Given the description of an element on the screen output the (x, y) to click on. 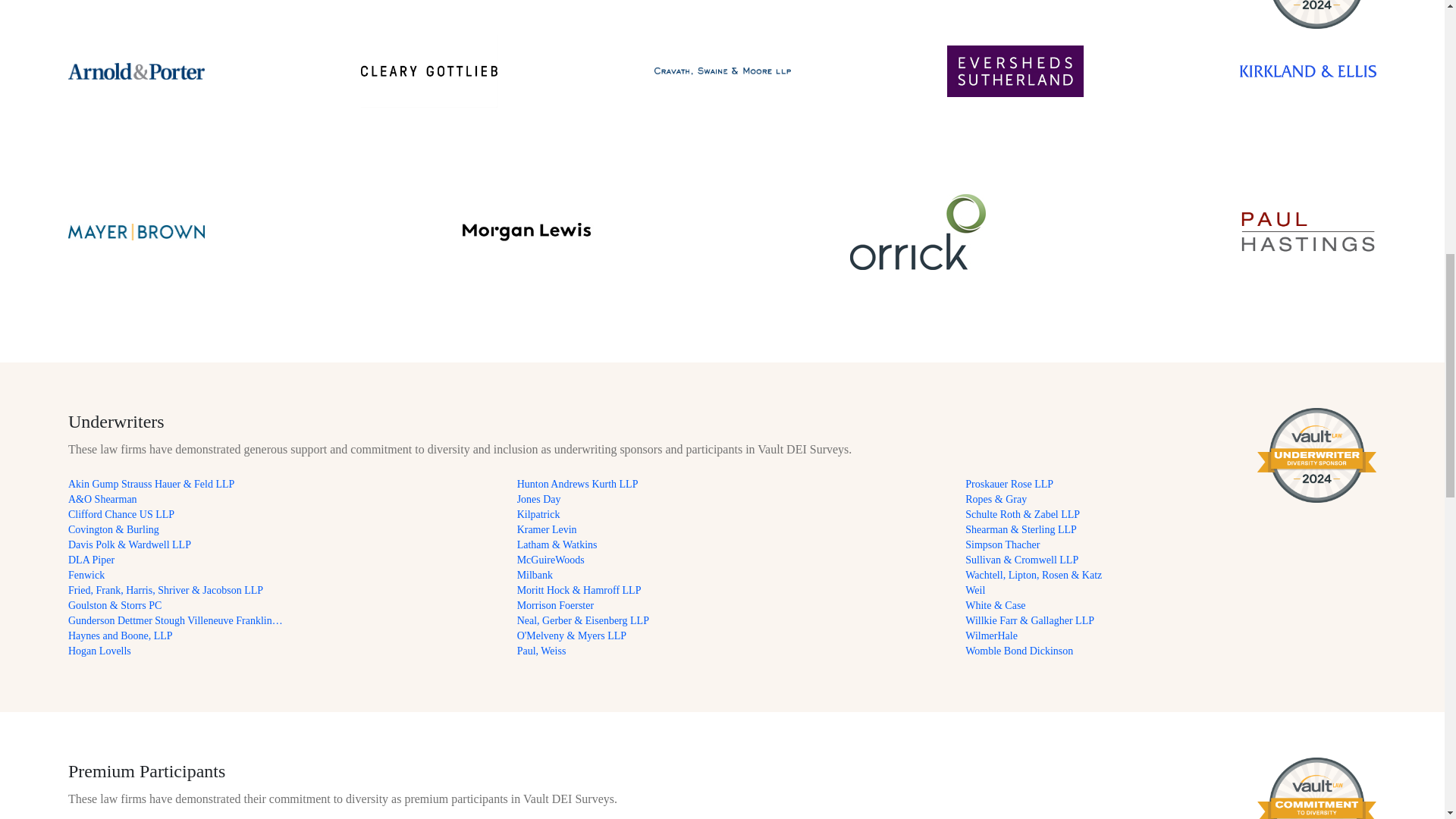
Mayer Brown LLP (136, 231)
DLA Piper (175, 560)
Fenwick (175, 575)
Paul Hastings LLP (1307, 231)
Clifford Chance US LLP (175, 514)
DLA Piper (175, 560)
Orrick (917, 231)
Clifford Chance US LLP (175, 514)
